Given the description of an element on the screen output the (x, y) to click on. 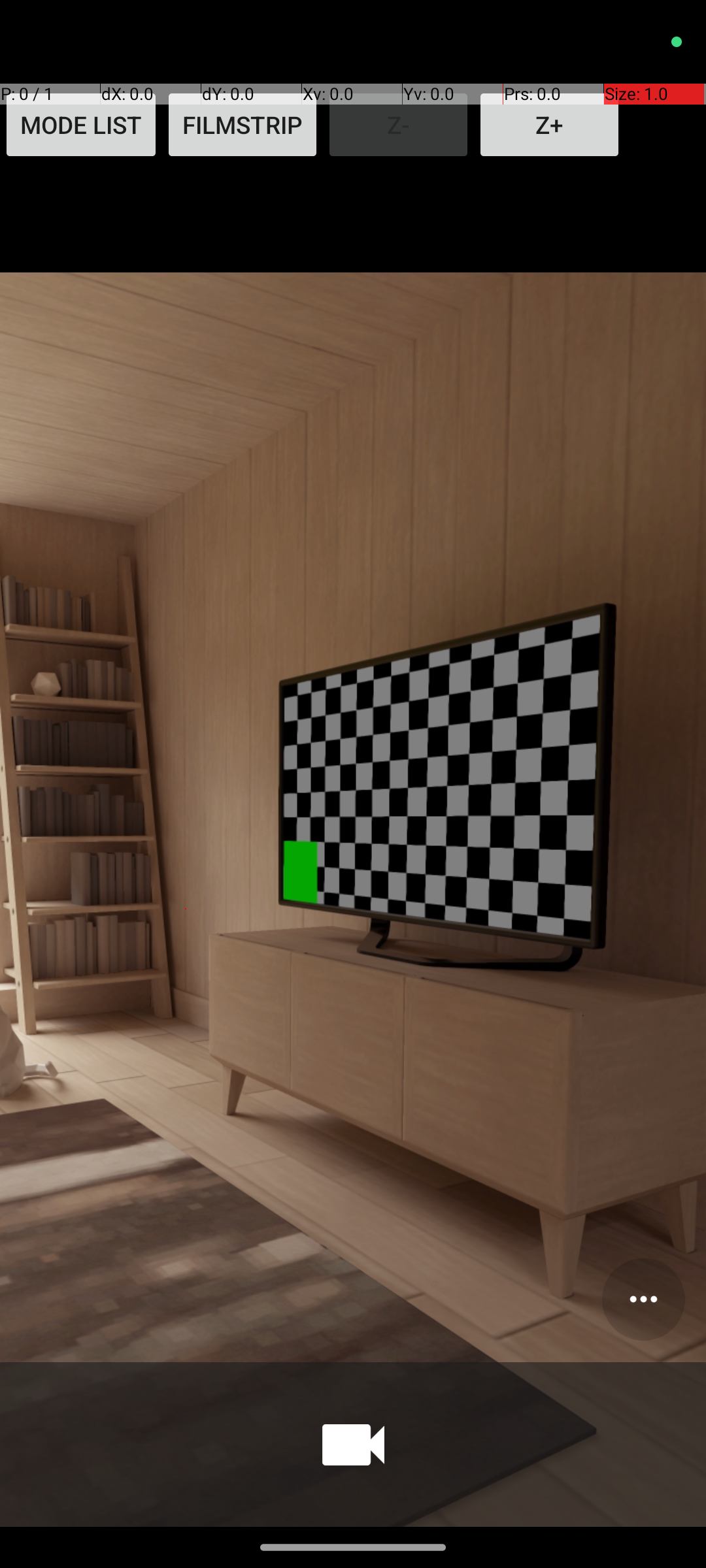
Options Element type: android.widget.LinearLayout (643, 1299)
